Given the description of an element on the screen output the (x, y) to click on. 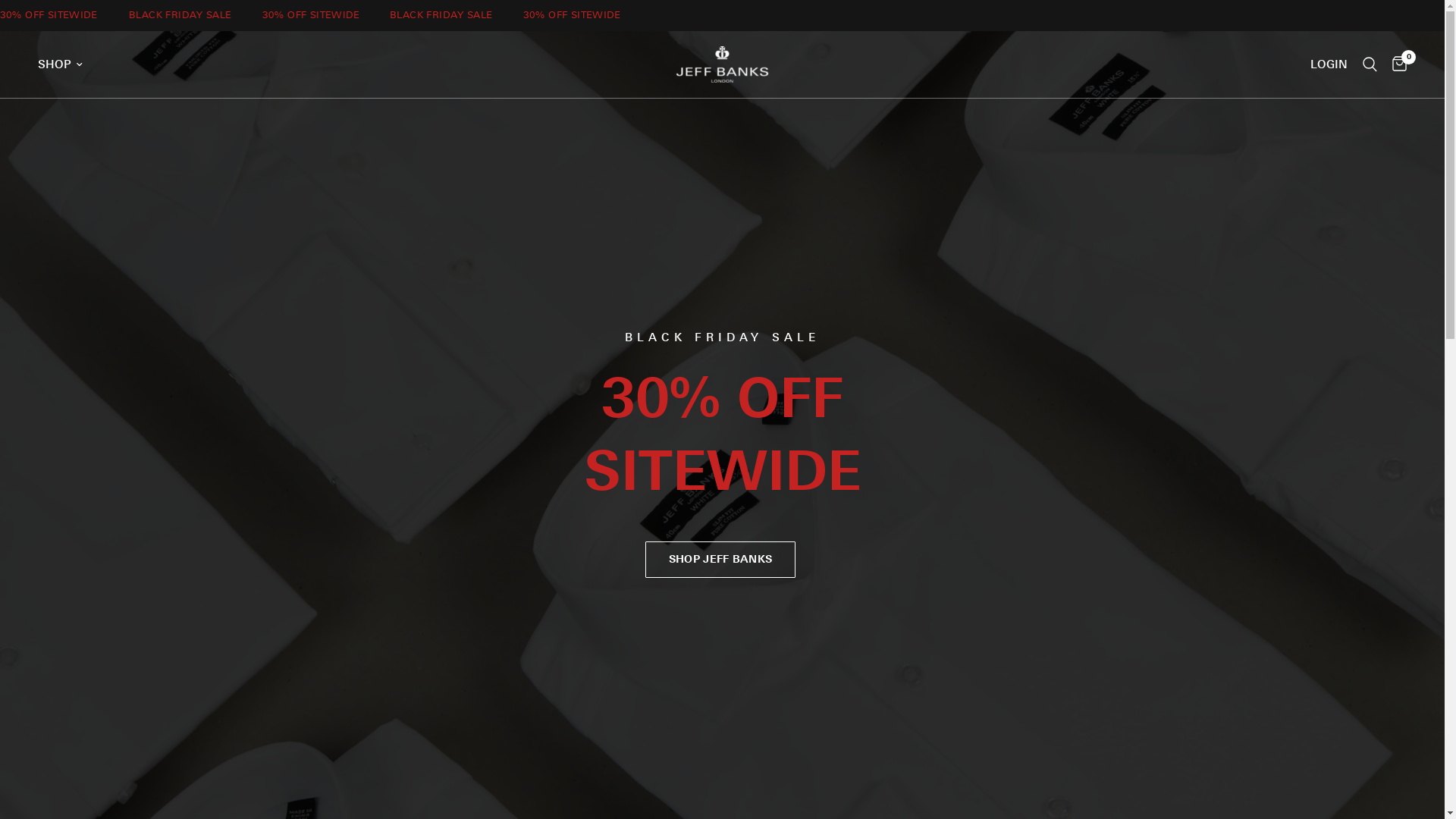
Search Element type: hover (1369, 64)
LOGIN Element type: text (1328, 64)
0 Element type: text (1395, 64)
SHOP Element type: text (59, 64)
SHOP JEFF BANKS Element type: text (720, 559)
